Given the description of an element on the screen output the (x, y) to click on. 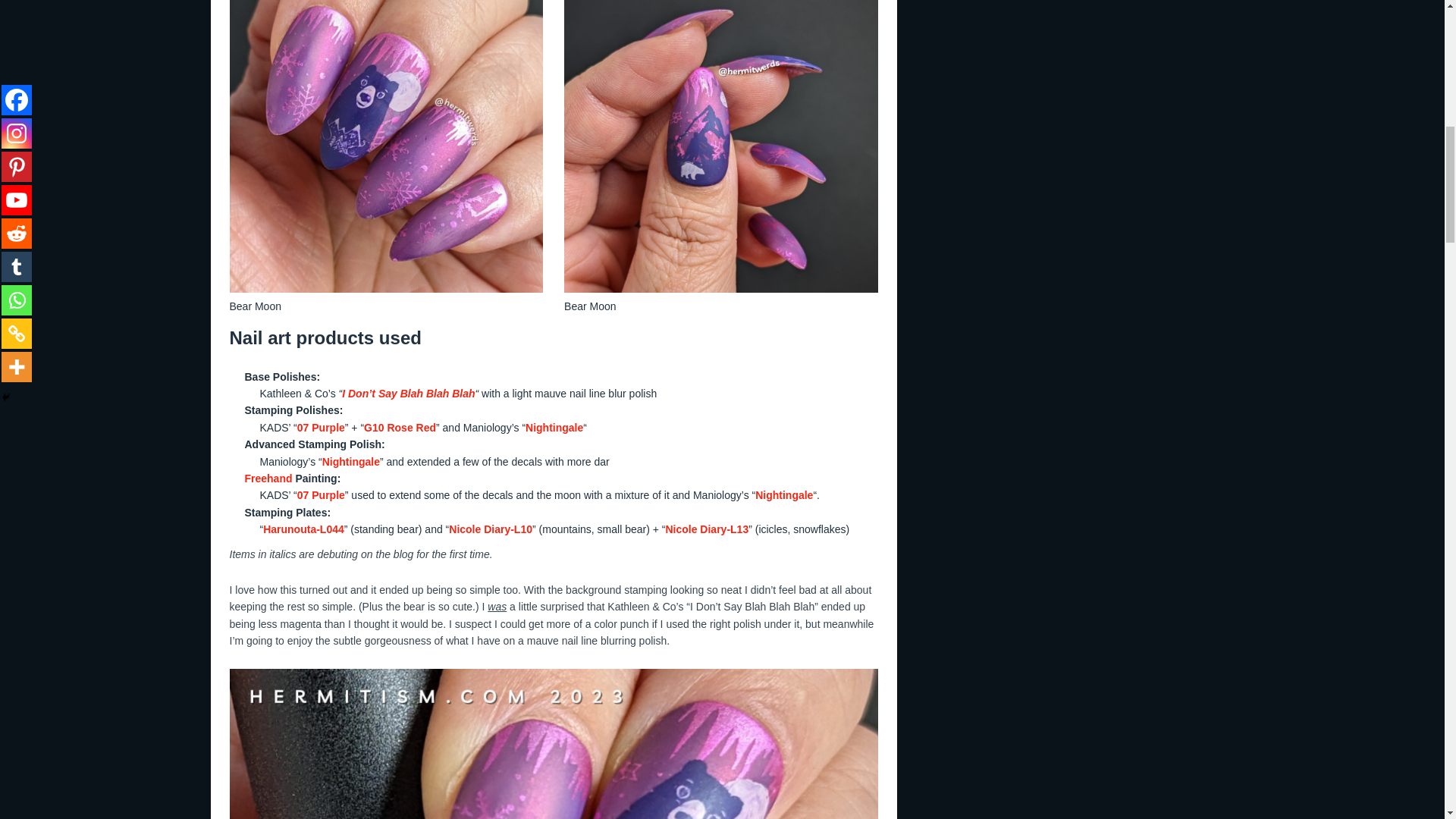
Nicole Diary-L10 (490, 529)
Harunouta-L044 (303, 529)
07 Purple (321, 494)
07 Purple (321, 427)
Nicole Diary-L13 (706, 529)
Nightingale (783, 494)
Nightingale (554, 427)
Nightingale (350, 461)
G10 Rose Red (399, 427)
Freehand (268, 478)
